Given the description of an element on the screen output the (x, y) to click on. 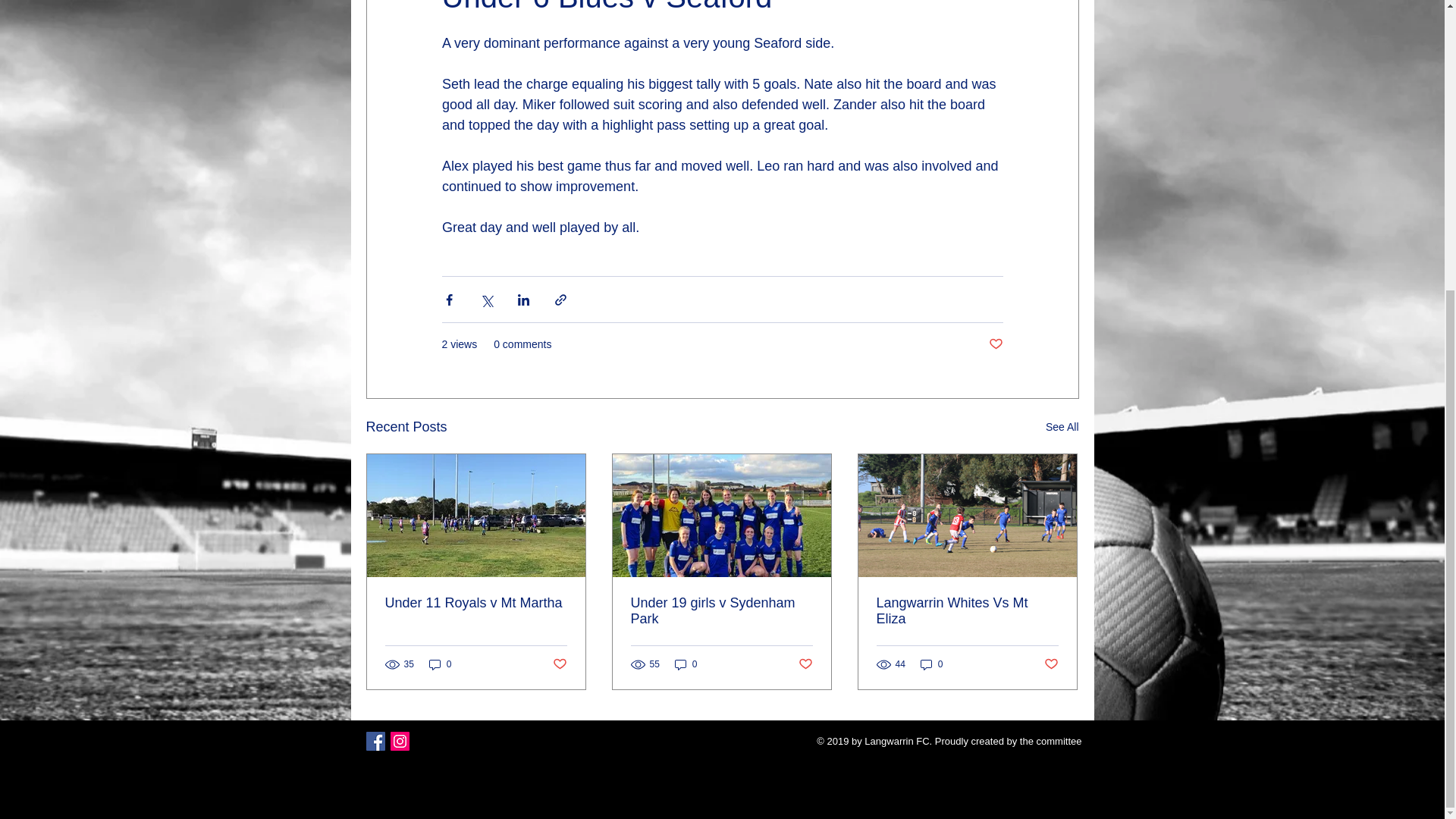
Post not marked as liked (804, 663)
Post not marked as liked (558, 663)
0 (440, 664)
Post not marked as liked (995, 344)
0 (685, 664)
See All (1061, 427)
Under 19 girls v Sydenham Park (721, 611)
Langwarrin Whites Vs Mt Eliza (967, 611)
Under 11 Royals v Mt Martha (476, 602)
